Given the description of an element on the screen output the (x, y) to click on. 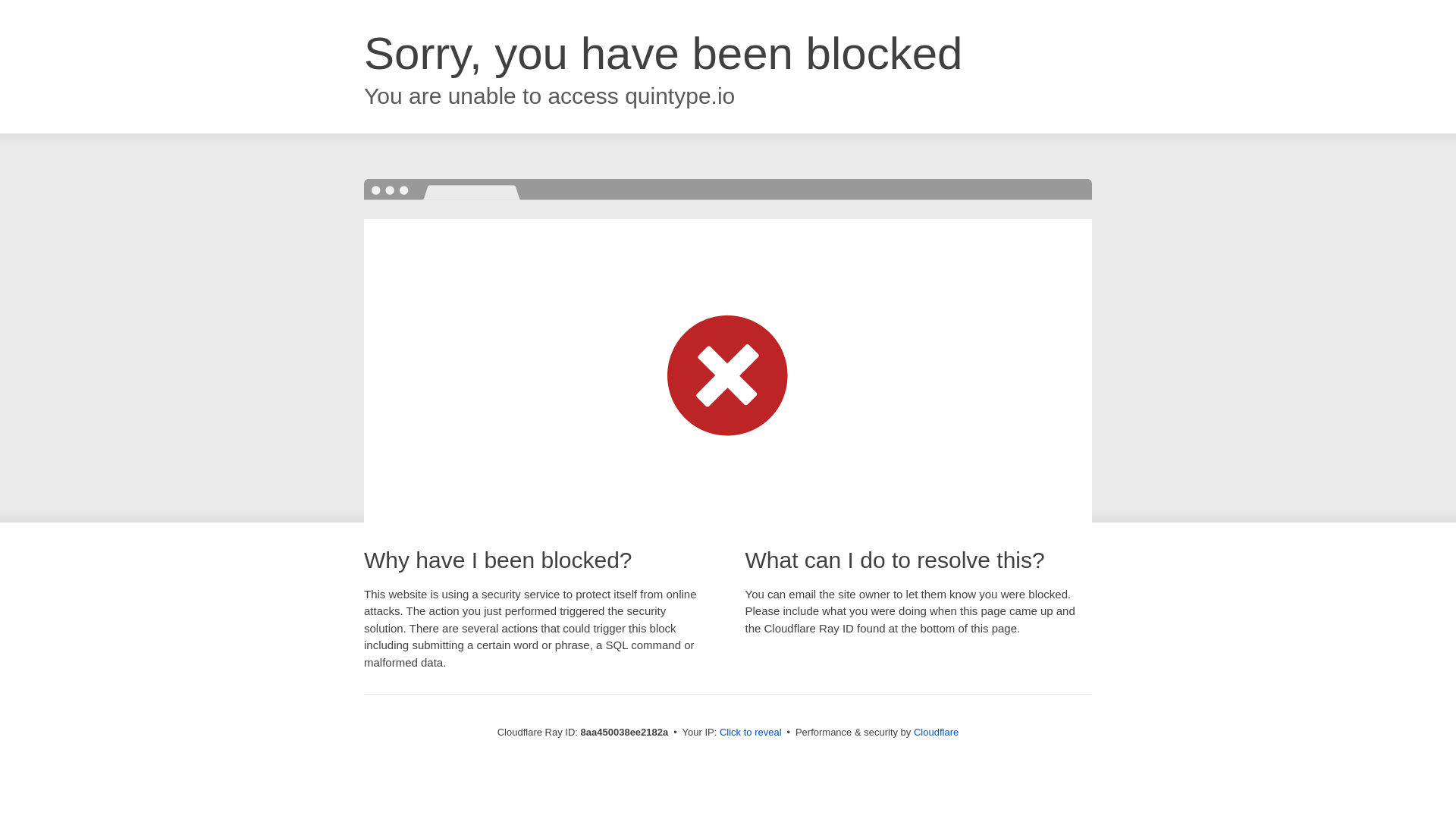
Cloudflare (936, 731)
Click to reveal (750, 732)
